Given the description of an element on the screen output the (x, y) to click on. 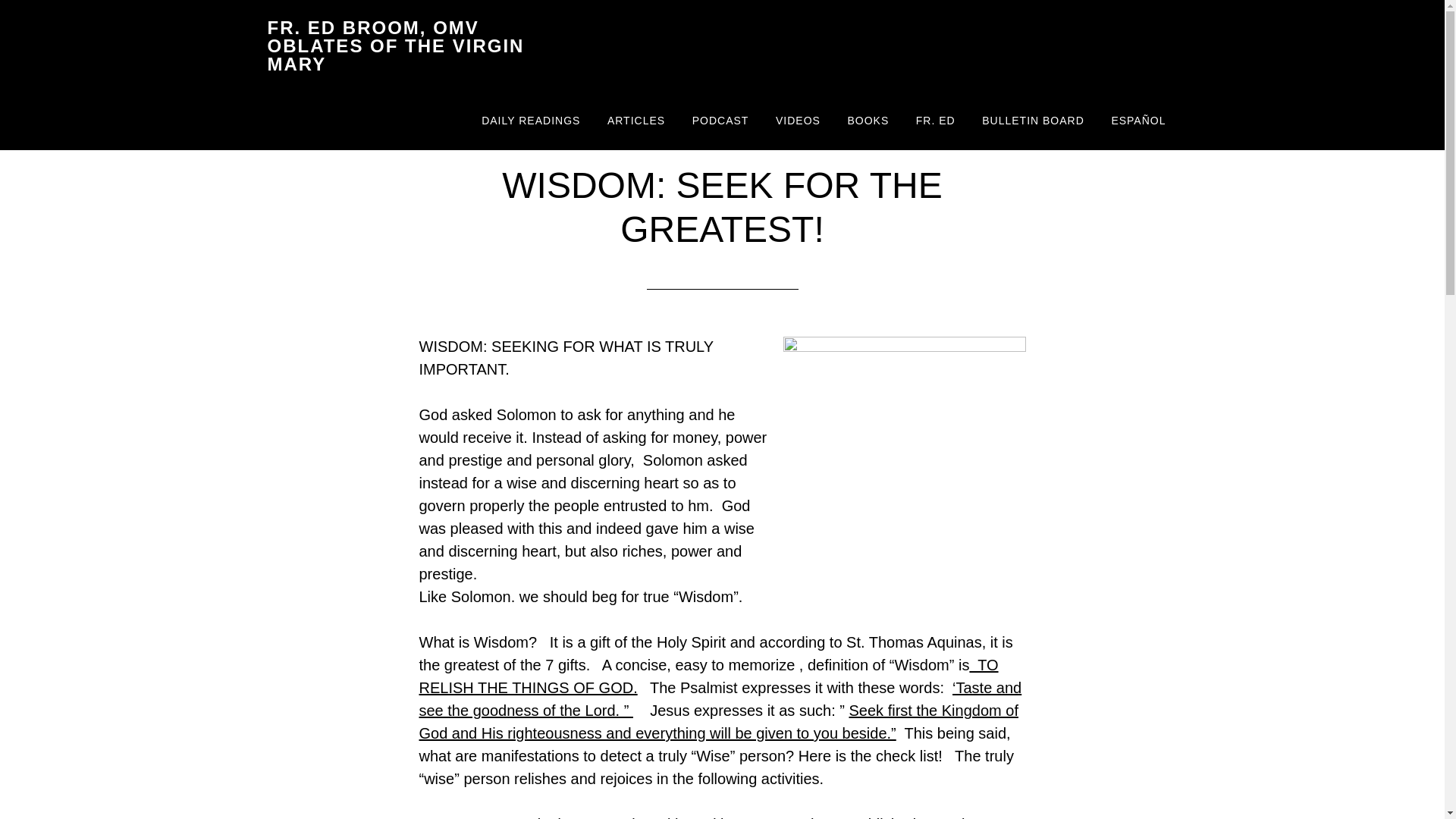
PODCAST (720, 120)
FR. ED BROOM, OMV OBLATES OF THE VIRGIN MARY (395, 45)
BULLETIN BOARD (1033, 120)
DAILY READINGS (530, 120)
VIDEOS (797, 120)
FR. ED (935, 120)
BOOKS (867, 120)
ARTICLES (636, 120)
